Given the description of an element on the screen output the (x, y) to click on. 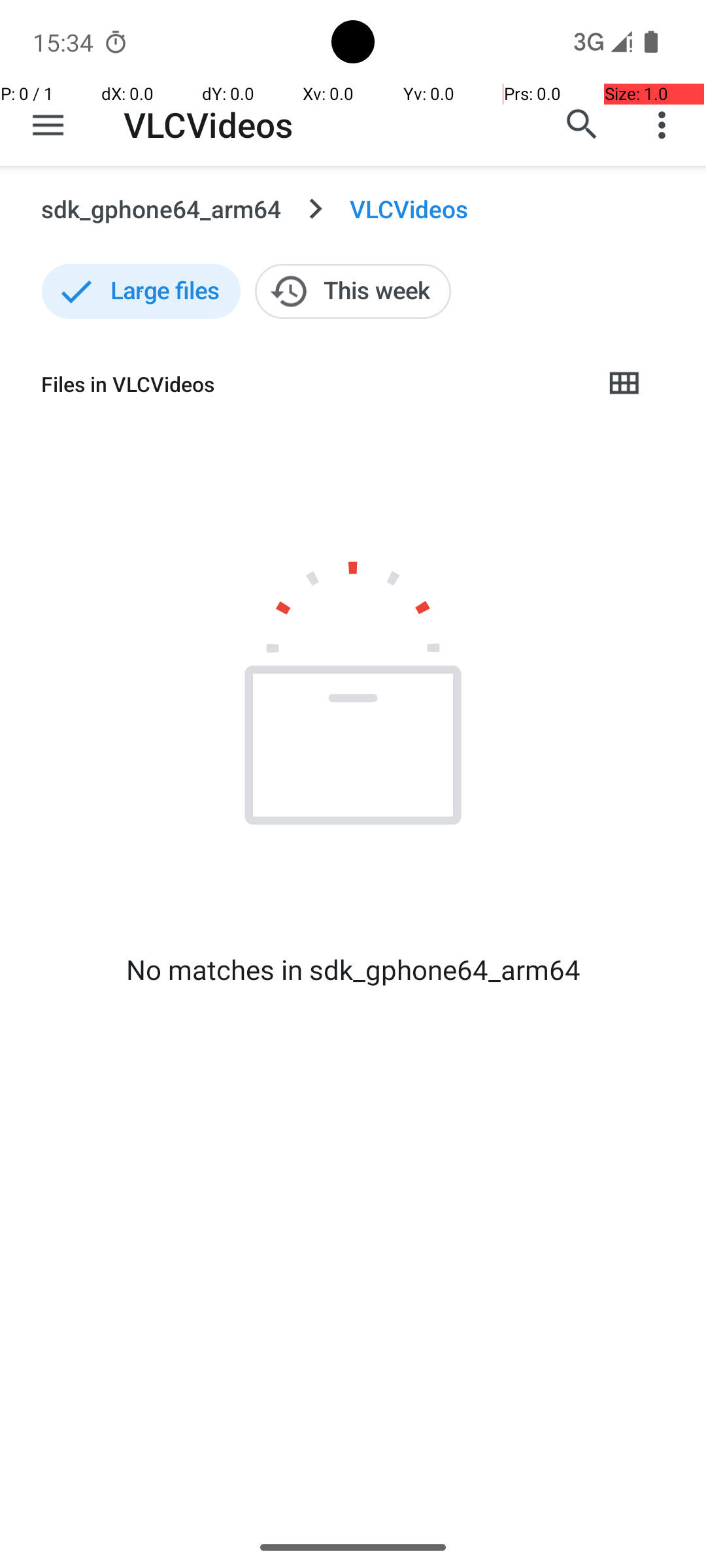
Files in VLCVideos Element type: android.widget.TextView (311, 383)
No matches in sdk_gphone64_arm64 Element type: android.widget.TextView (353, 968)
